Given the description of an element on the screen output the (x, y) to click on. 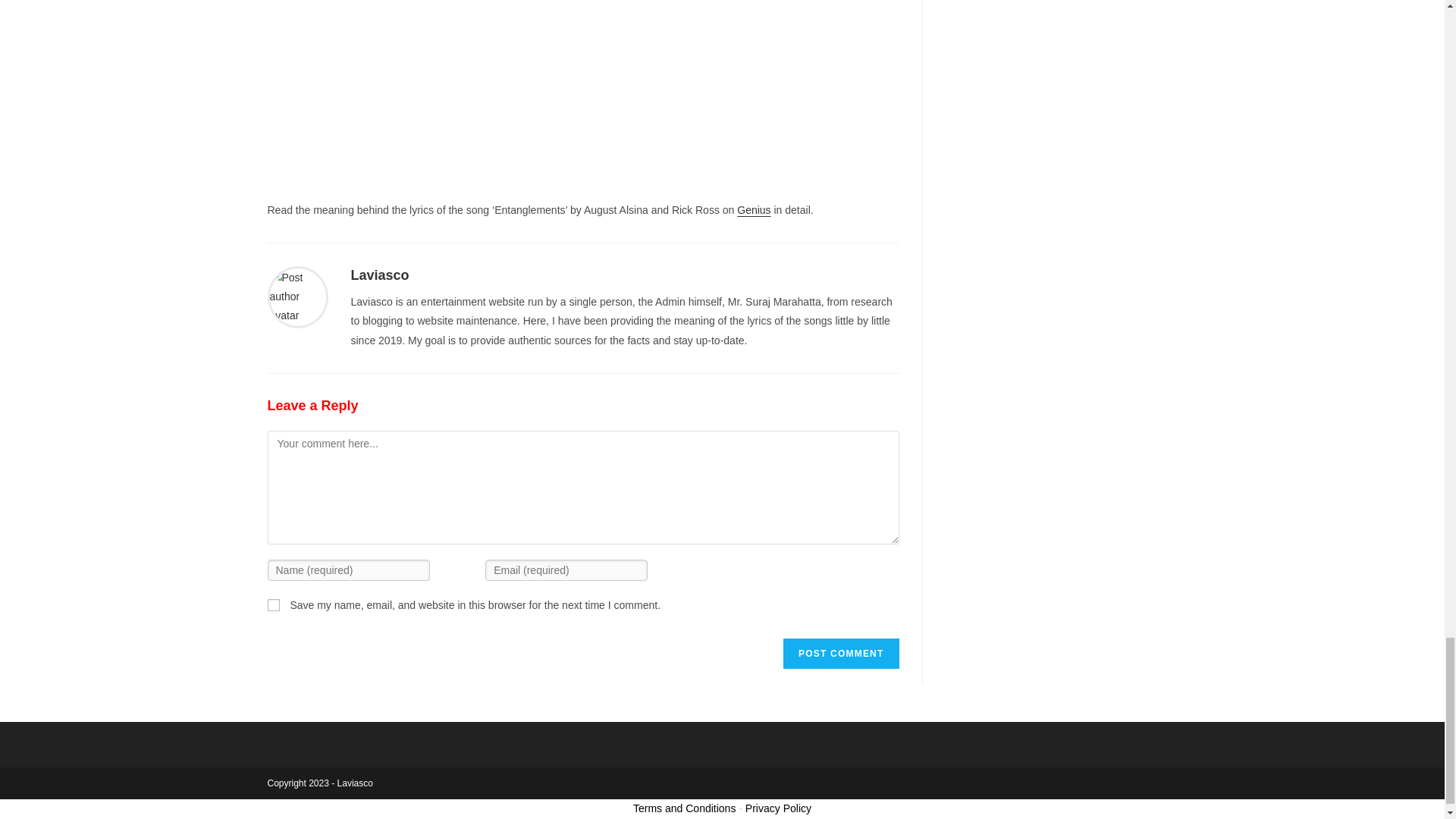
Post Comment (840, 653)
Visit author page (296, 296)
yes (272, 604)
Visit author page (379, 274)
